Given the description of an element on the screen output the (x, y) to click on. 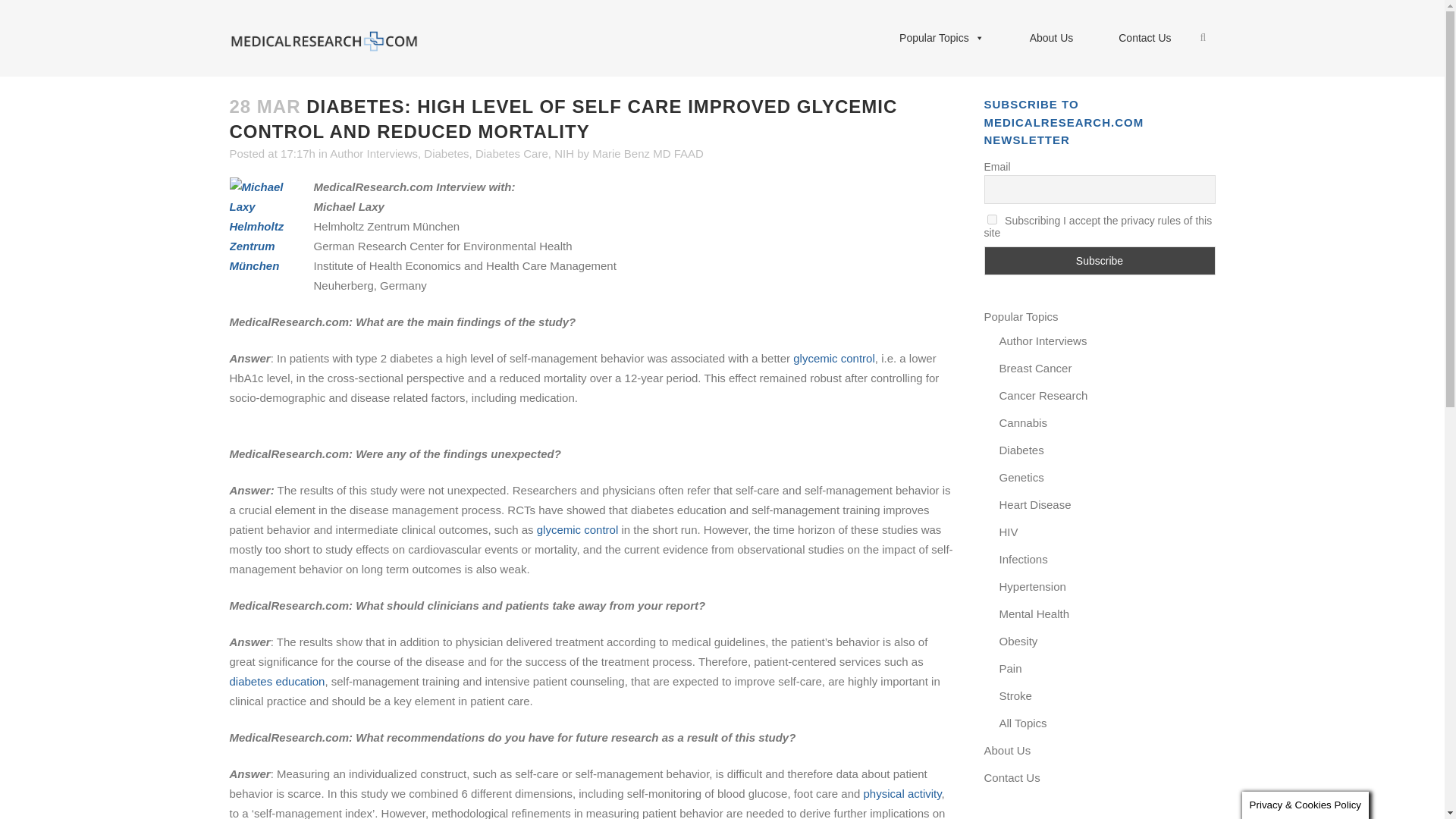
Contact Us (1144, 37)
Subscribe (1099, 260)
Popular Topics (941, 37)
Exercise Training and Changes in HbA1c, Body Fat and Fitness (902, 793)
on (992, 219)
About Us (1051, 37)
